Given the description of an element on the screen output the (x, y) to click on. 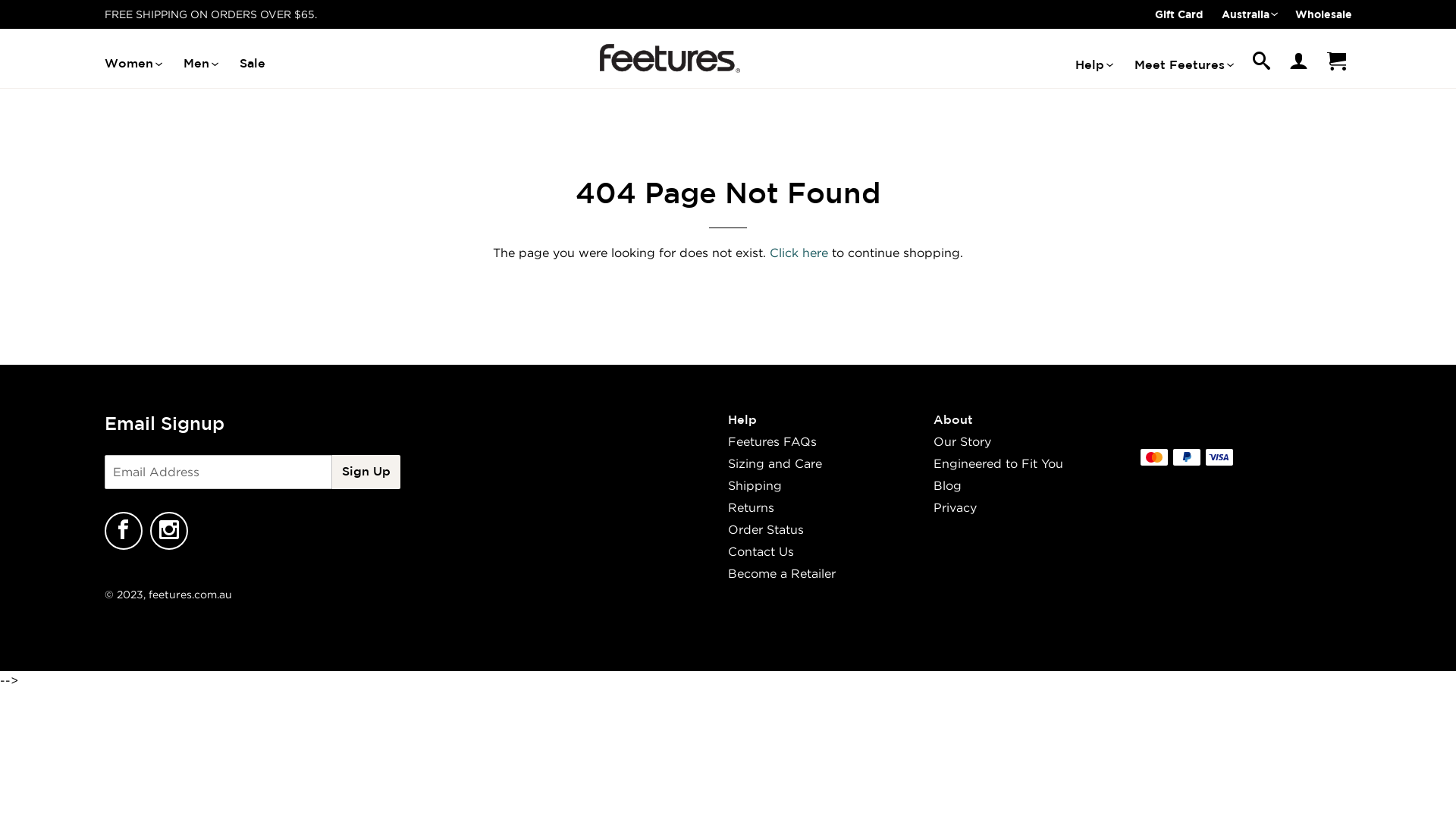
Sizing and Care Element type: text (775, 463)
Blog Element type: text (947, 485)
Men Element type: text (199, 63)
Instagram Element type: text (169, 530)
Wholesale Element type: text (1323, 13)
Engineered to Fit You Element type: text (998, 463)
FREE SHIPPING ON ORDERS OVER $65. Element type: text (210, 13)
Women Element type: text (132, 63)
Click here Element type: text (798, 252)
Help Element type: text (1093, 64)
Gift Card Element type: text (1177, 13)
Contact Us Element type: text (760, 551)
Sale Element type: text (252, 63)
Feetures FAQs Element type: text (772, 441)
Our Story Element type: text (962, 441)
Privacy Element type: text (954, 507)
Facebook Element type: text (123, 530)
Cart Element type: text (1336, 63)
feetures.com.au Element type: text (190, 593)
Shipping Element type: text (754, 485)
Log In Element type: text (1298, 63)
Meet Feetures Element type: text (1182, 64)
Order Status Element type: text (765, 529)
Returns Element type: text (751, 507)
Search Element type: text (1260, 64)
Sign Up Element type: text (366, 472)
Become a Retailer Element type: text (781, 573)
